Given the description of an element on the screen output the (x, y) to click on. 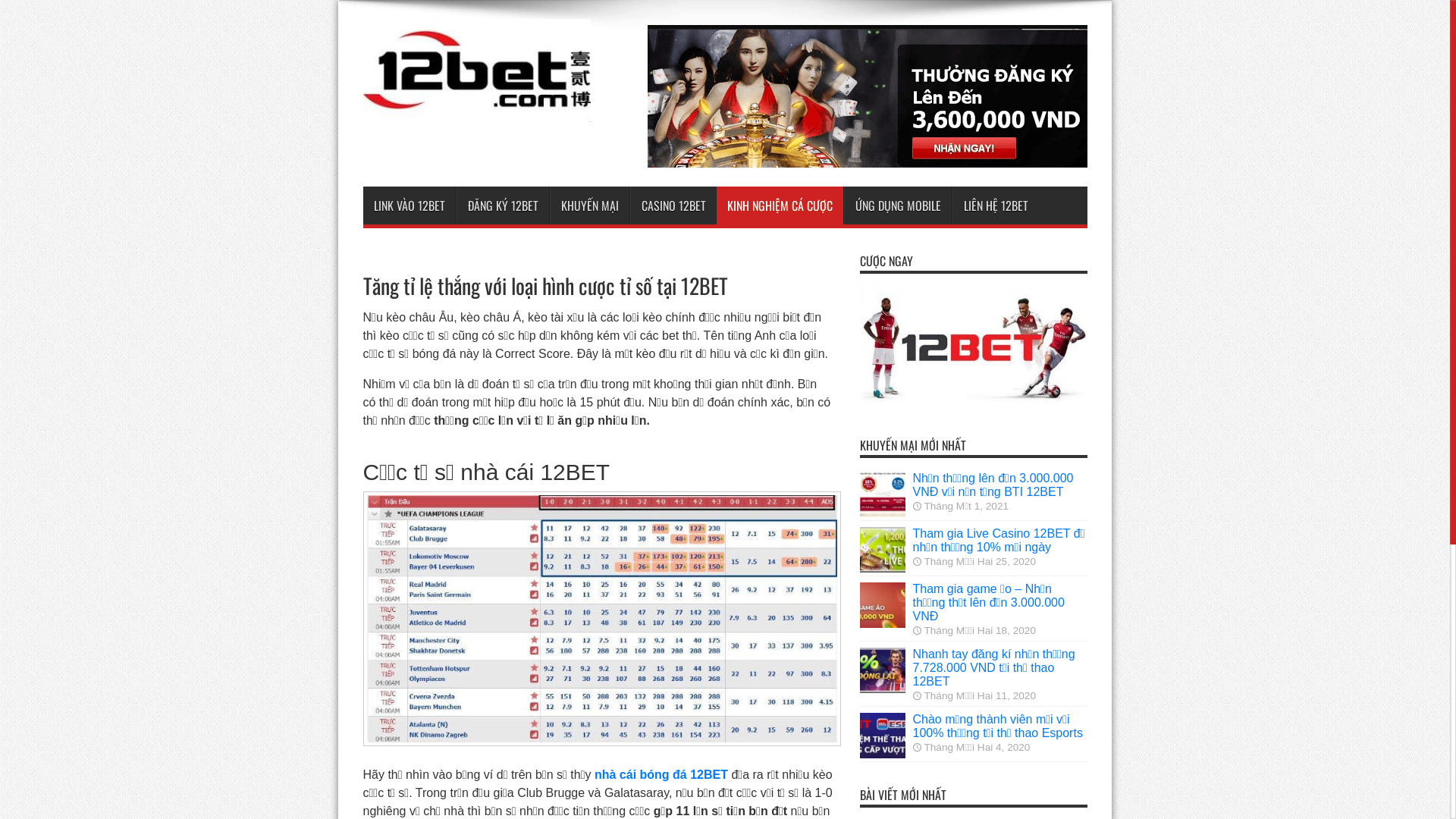
CASINO 12BET Element type: text (672, 205)
